Given the description of an element on the screen output the (x, y) to click on. 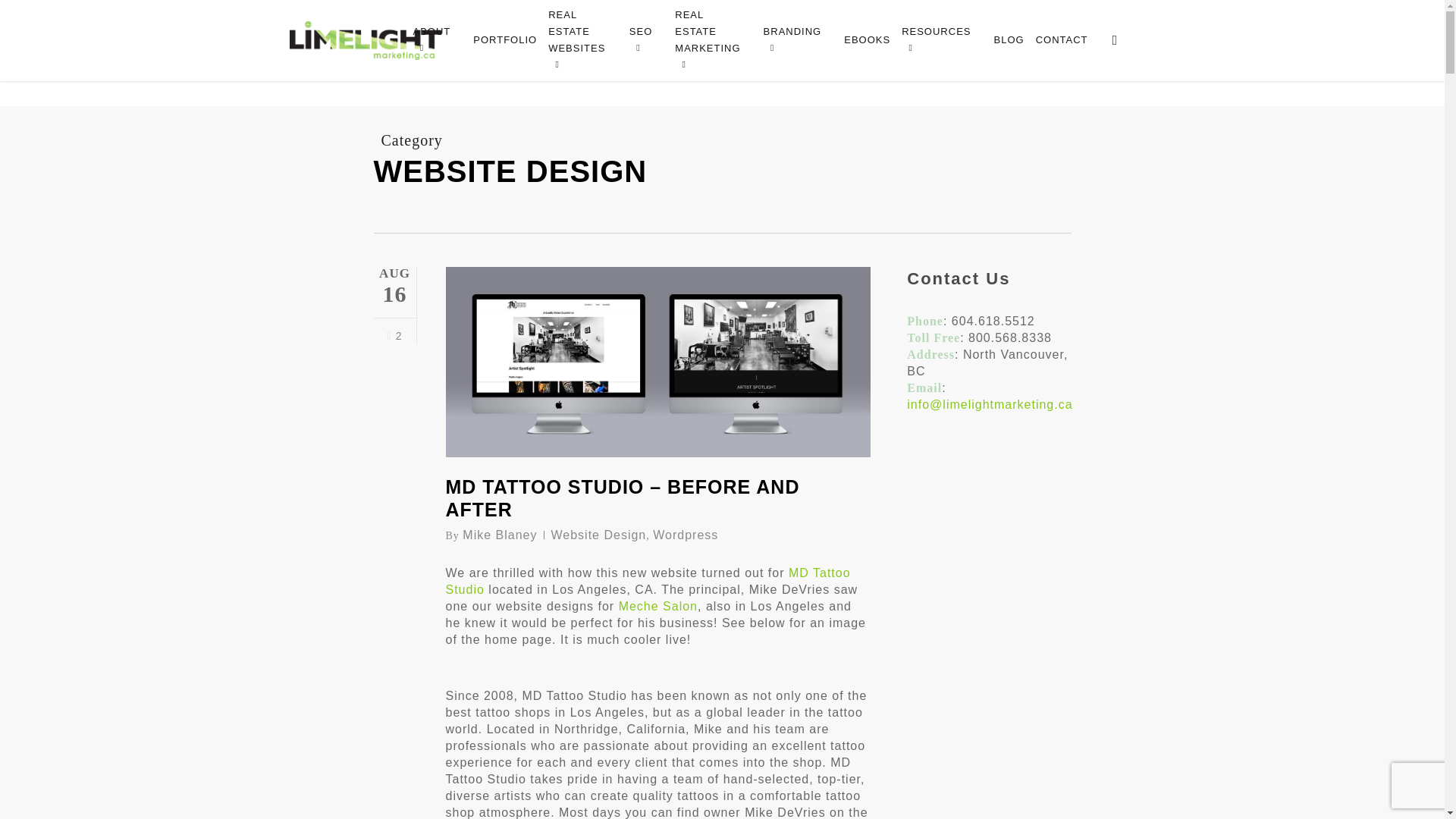
Search Engine Optimization (643, 39)
Blog (1006, 39)
Branding (796, 39)
Posts by Mike Blaney (500, 534)
ABOUT (434, 39)
Real Estate Websites (580, 39)
BRANDING (796, 39)
SEO (643, 39)
REAL ESTATE MARKETING (710, 39)
Love this (395, 335)
Contact (1059, 39)
REAL ESTATE WEBSITES (580, 39)
PORTFOLIO (502, 39)
